Given the description of an element on the screen output the (x, y) to click on. 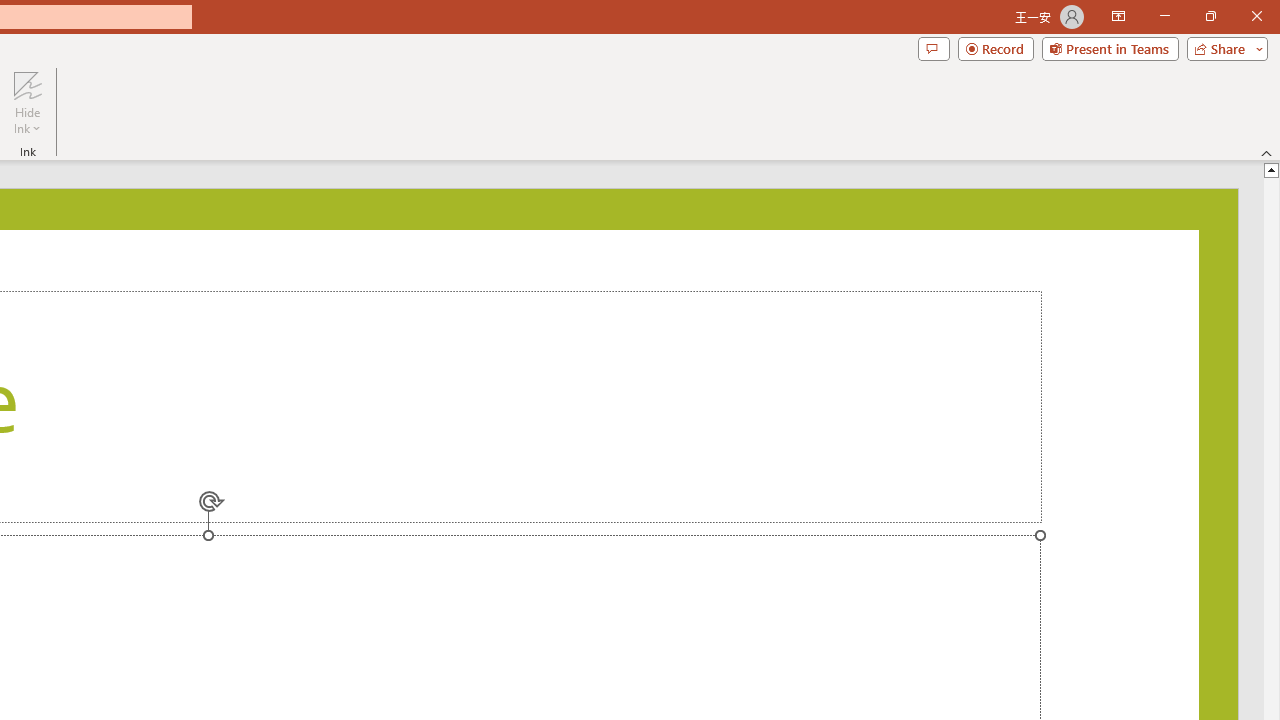
Hide Ink (27, 102)
Hide Ink (27, 84)
